Given the description of an element on the screen output the (x, y) to click on. 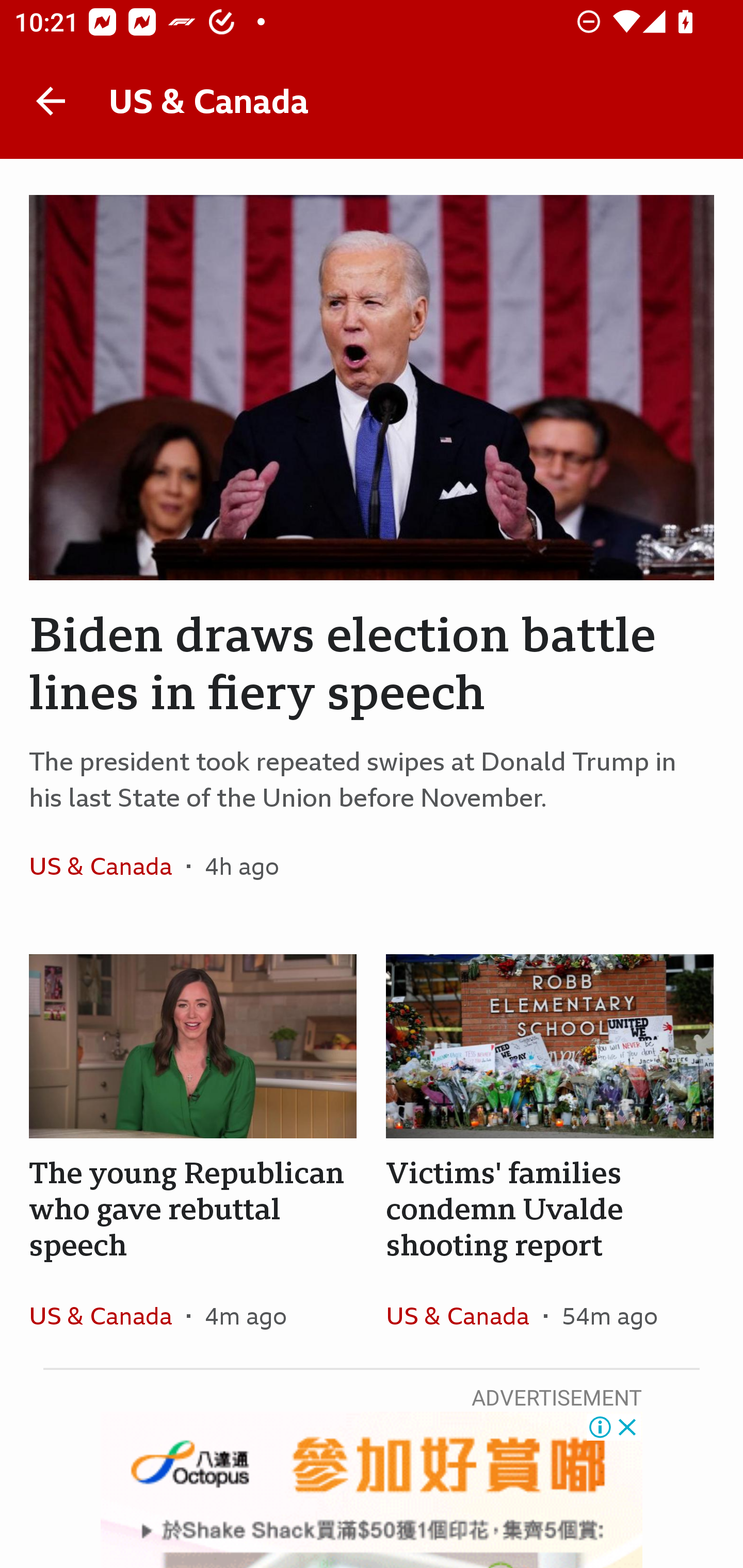
Back (50, 101)
US & Canada In the section US & Canada (107, 865)
US & Canada In the section US & Canada (107, 1315)
US & Canada In the section US & Canada (464, 1315)
Advertisement (371, 1489)
